Given the description of an element on the screen output the (x, y) to click on. 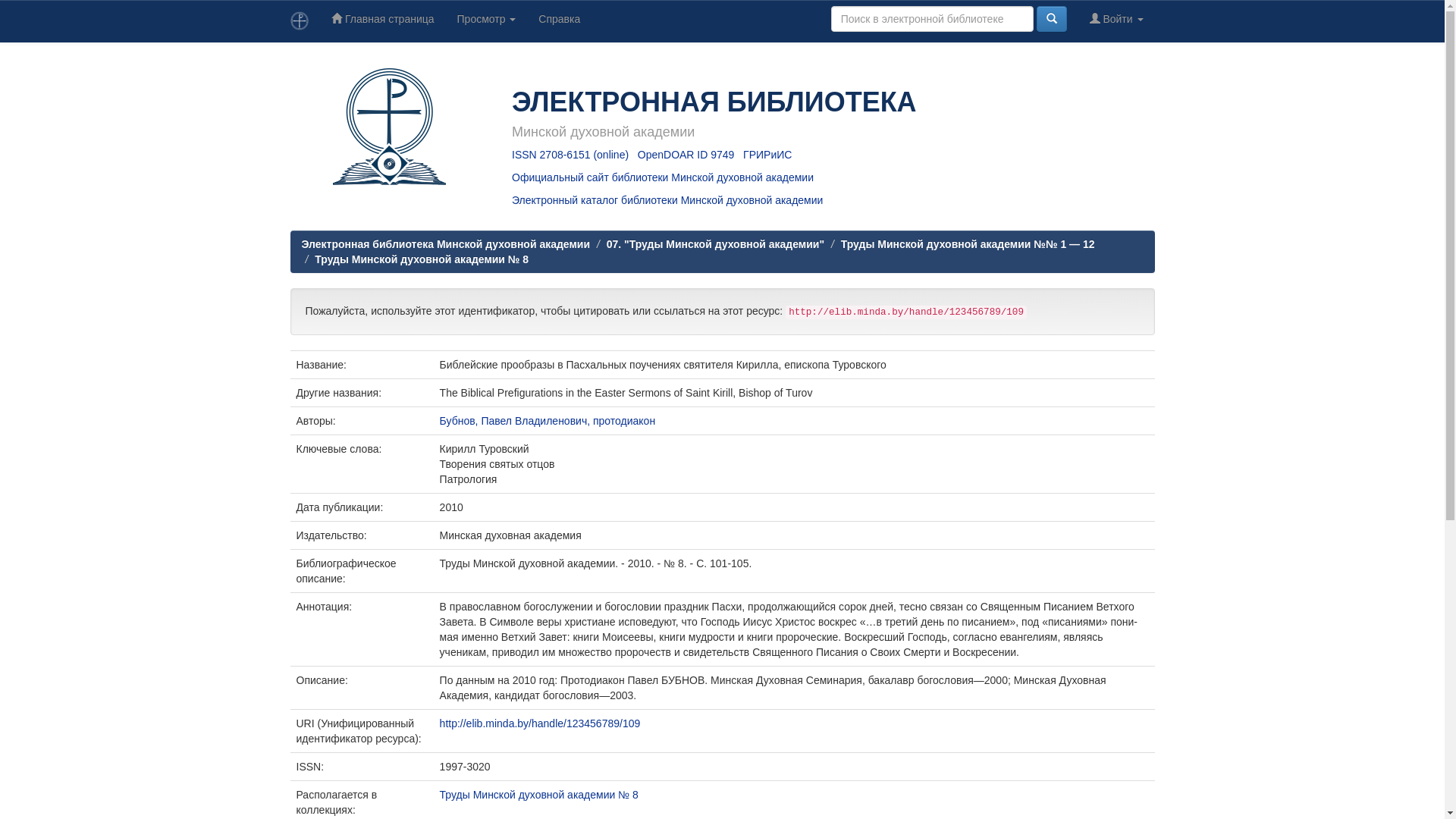
OpenDOAR ID 9749 Element type: text (685, 154)
ISSN 2708-6151 (online) Element type: text (569, 154)
http://elib.minda.by/handle/123456789/109 Element type: text (539, 723)
